Given the description of an element on the screen output the (x, y) to click on. 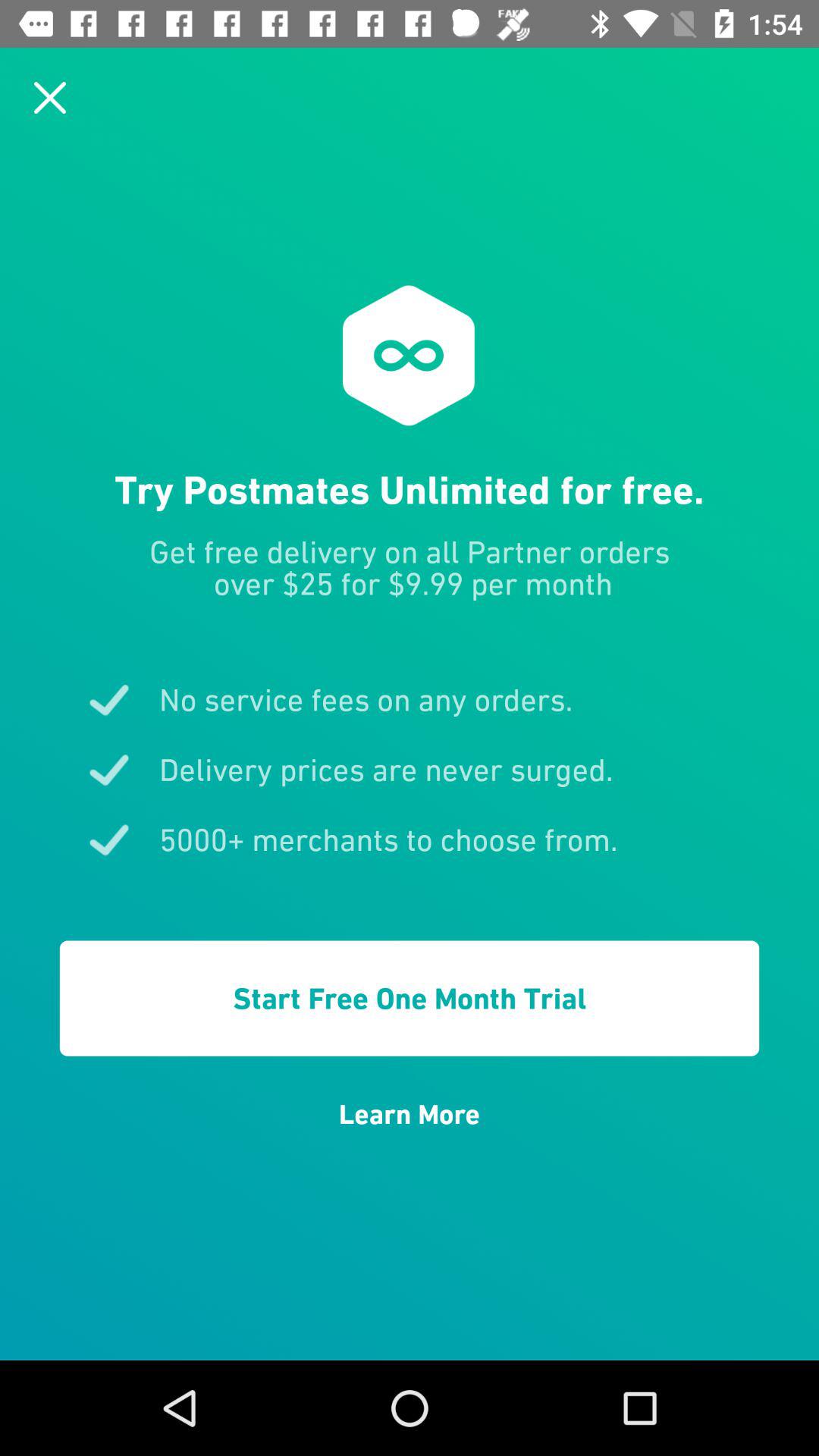
turn on the learn more (409, 1113)
